Given the description of an element on the screen output the (x, y) to click on. 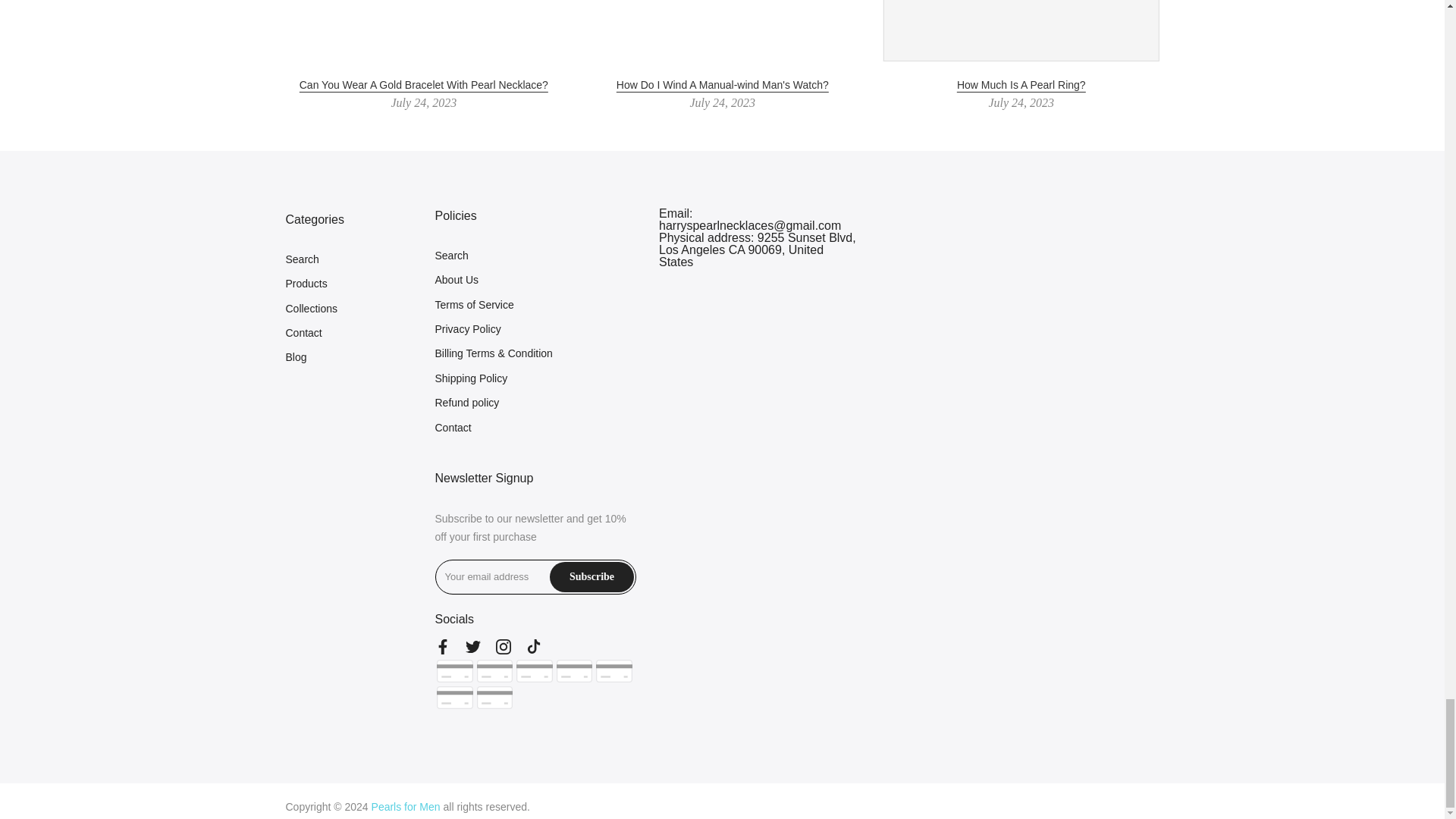
How Much Is A Pearl Ring? (1020, 85)
Search (301, 259)
Collections (310, 308)
How Do I Wind A Manual-wind Man's Watch? (721, 85)
Can You Wear A Gold Bracelet With Pearl Necklace? (422, 85)
Products (305, 283)
